Given the description of an element on the screen output the (x, y) to click on. 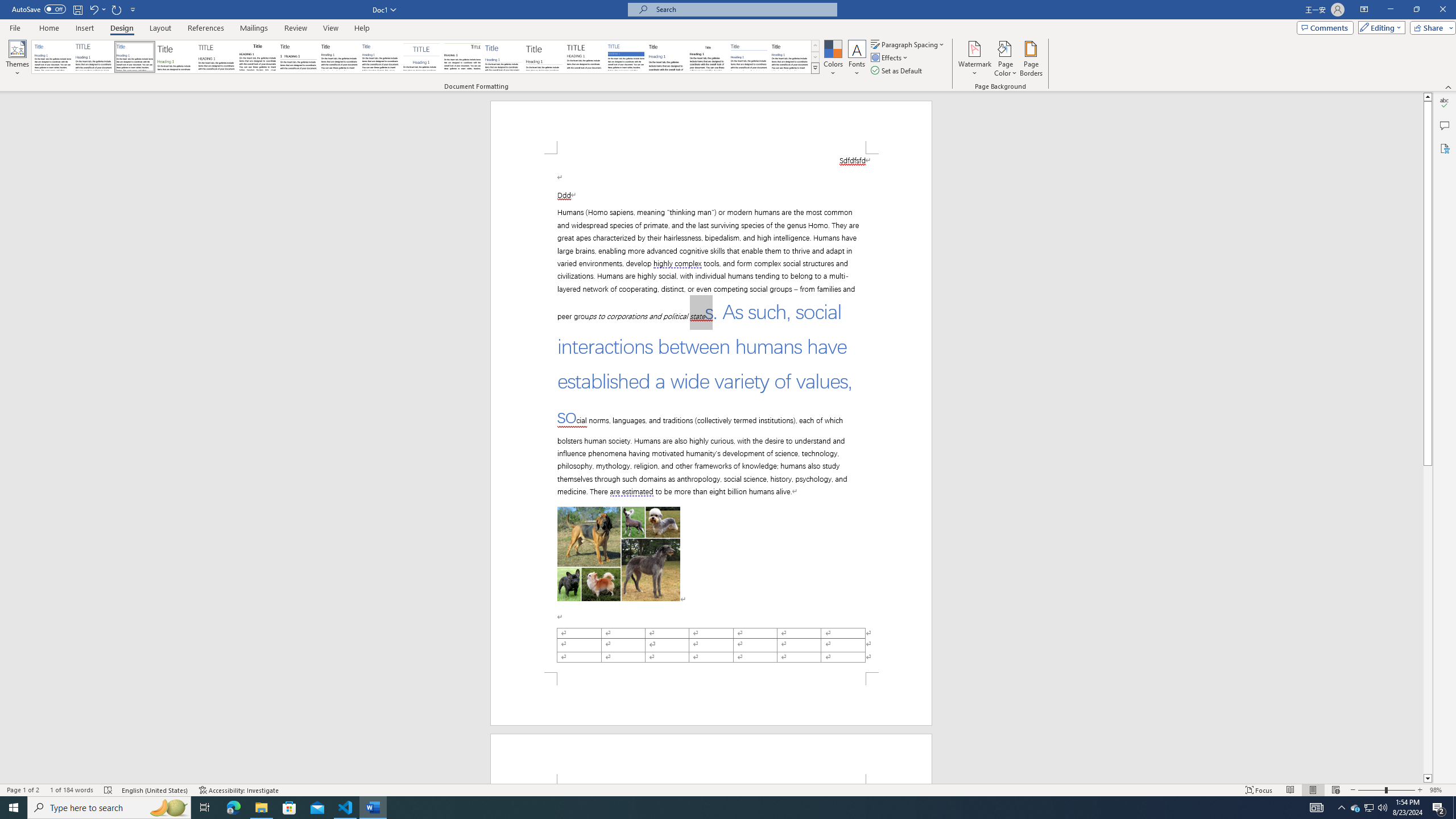
Paragraph Spacing (908, 44)
Page Number Page 1 of 2 (22, 790)
Black & White (Classic) (257, 56)
Line down (1427, 778)
Colors (832, 58)
Style Set (814, 67)
Effects (890, 56)
Black & White (Word 2013) (338, 56)
Header -Section 1- (710, 758)
